Given the description of an element on the screen output the (x, y) to click on. 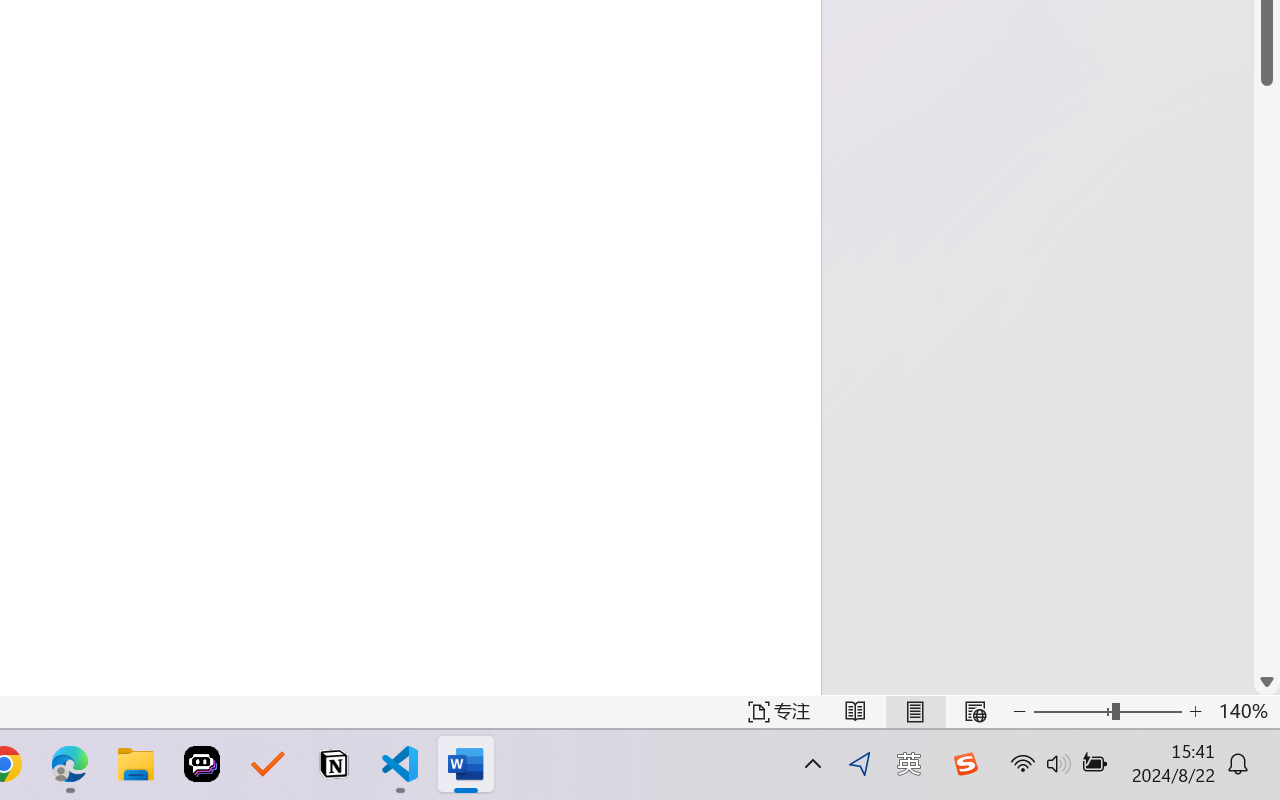
Class: Image (965, 764)
